Given the description of an element on the screen output the (x, y) to click on. 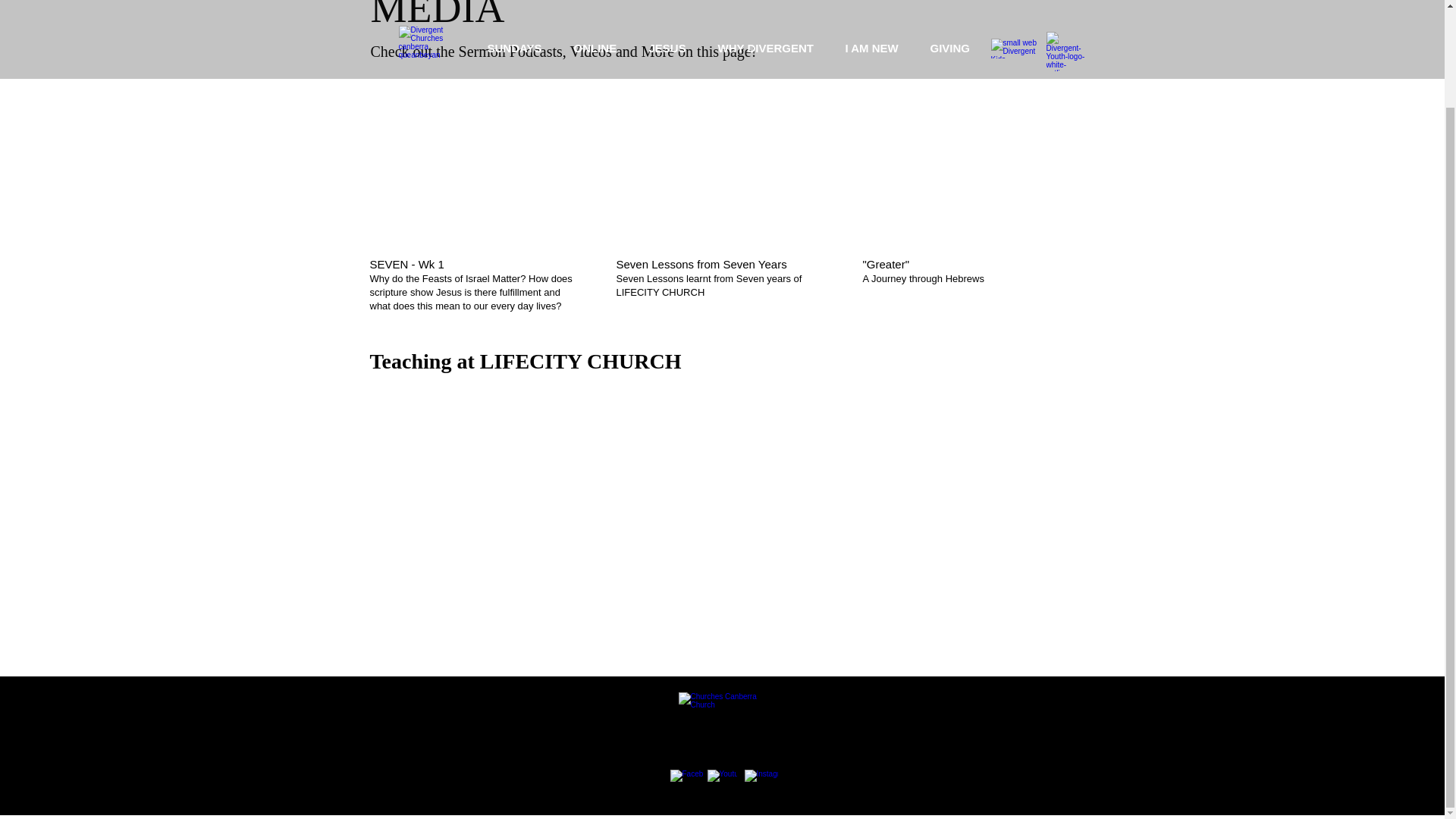
External Vimeo (720, 160)
External Vimeo (474, 160)
External Vimeo (968, 160)
